Given the description of an element on the screen output the (x, y) to click on. 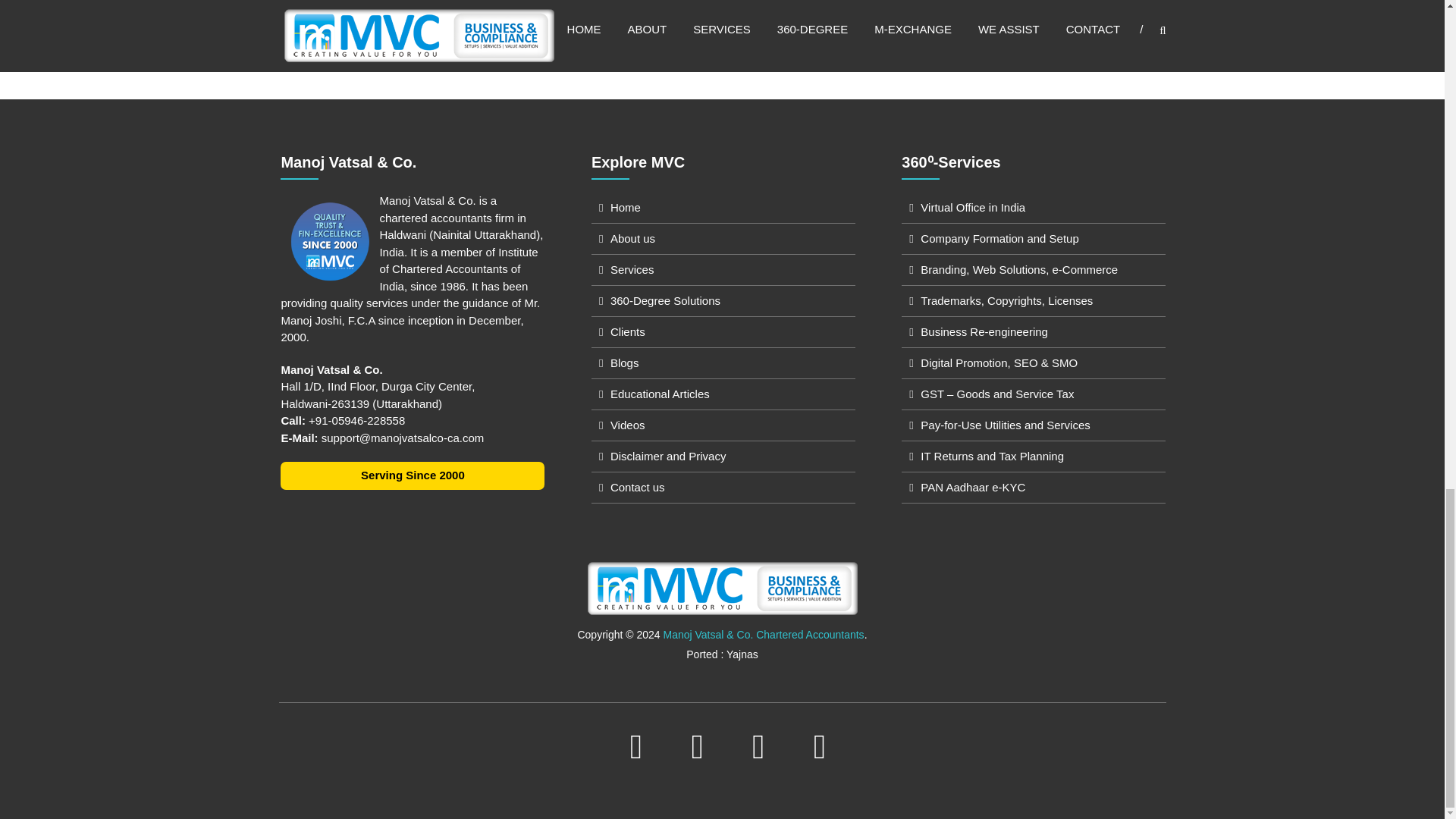
Clients (627, 331)
Services (631, 269)
Service Provider Form    (1040, 9)
Educational Articles (660, 393)
Videos (627, 424)
About us (632, 237)
Disclaimer and Privacy (668, 455)
Home (625, 206)
Blogs (624, 362)
360-Degree Solutions (665, 300)
